Given the description of an element on the screen output the (x, y) to click on. 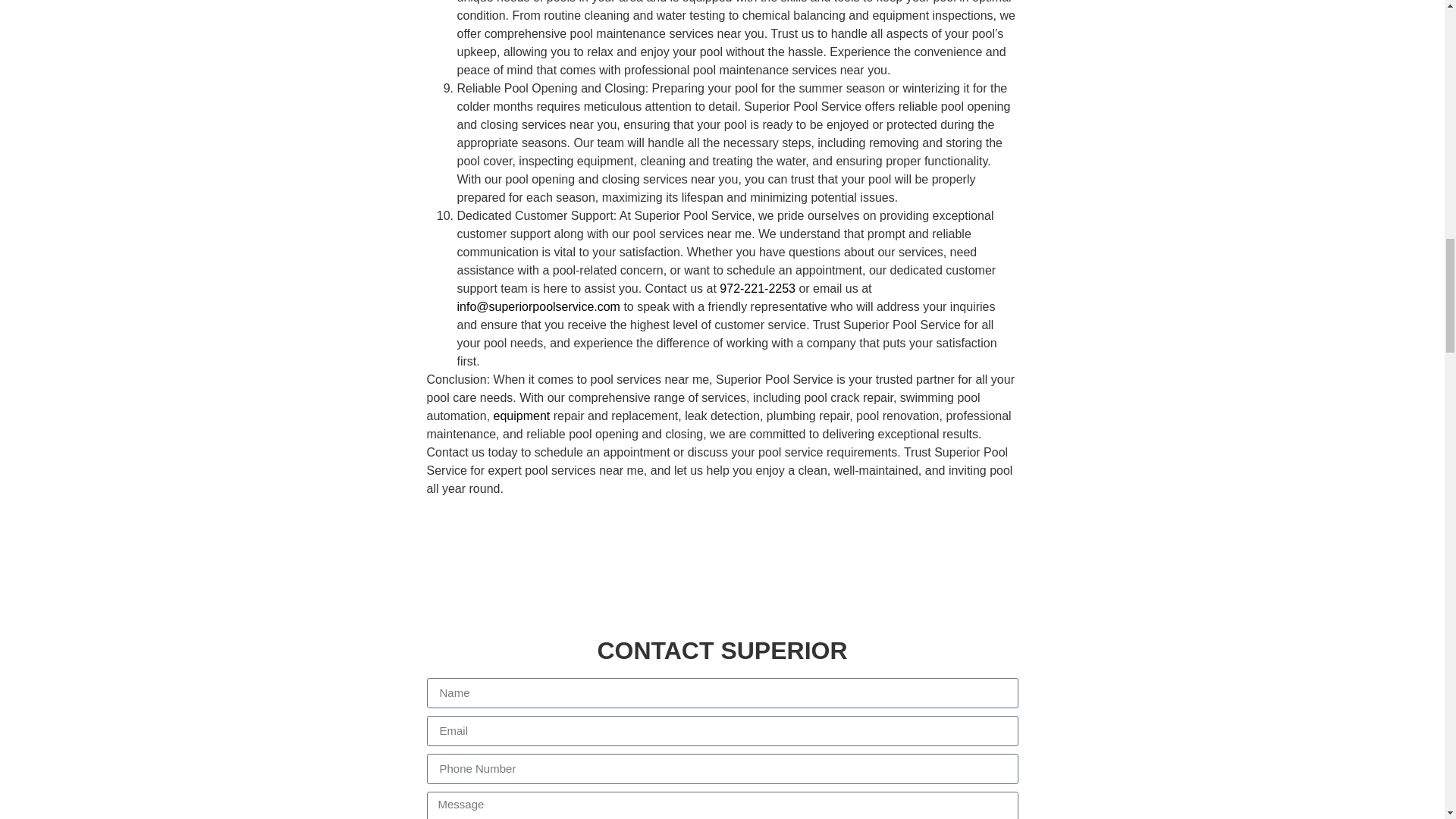
equipment (521, 415)
972-221-2253 (756, 287)
